Given the description of an element on the screen output the (x, y) to click on. 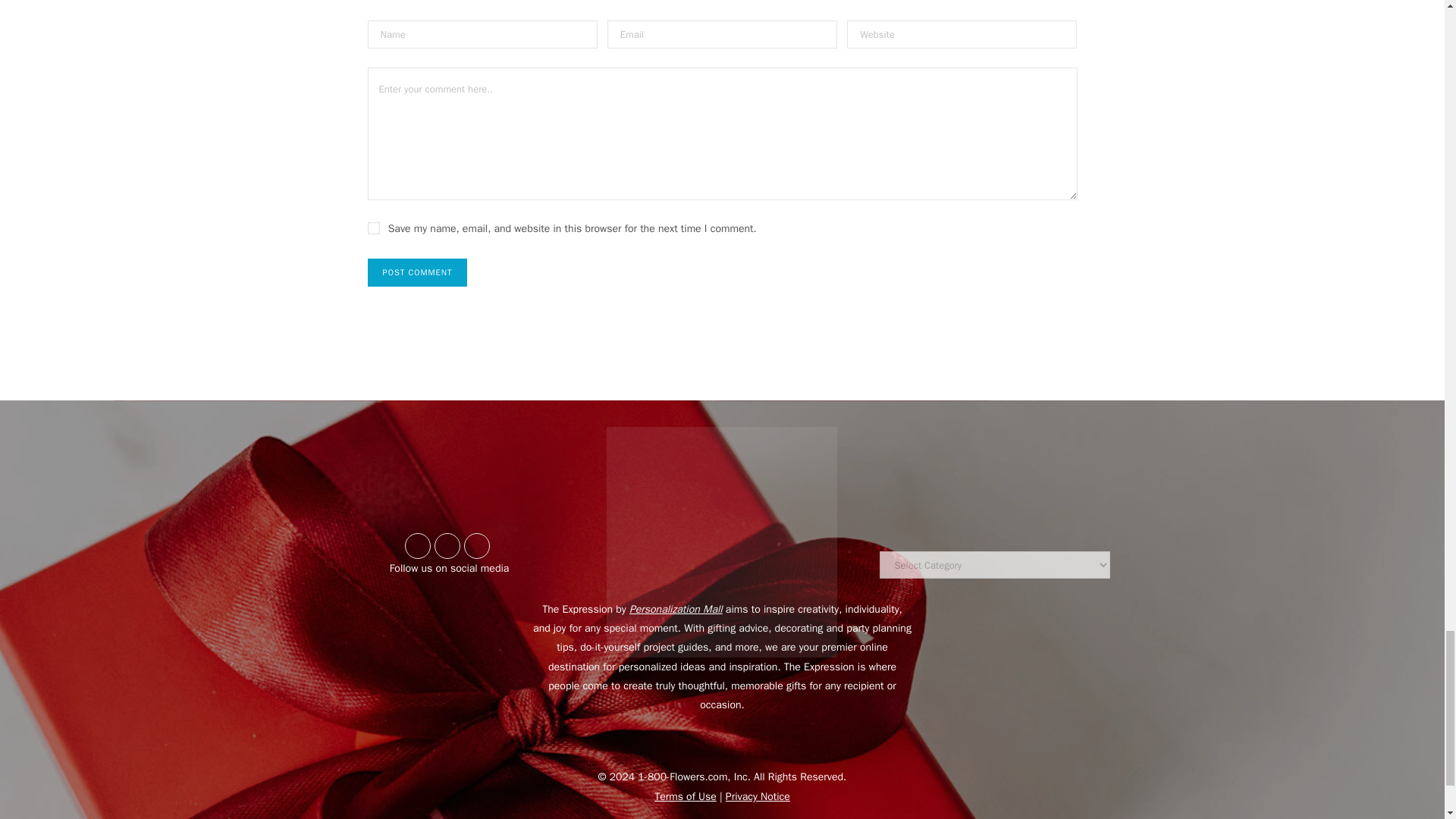
yes (372, 227)
Post Comment (416, 272)
